Given the description of an element on the screen output the (x, y) to click on. 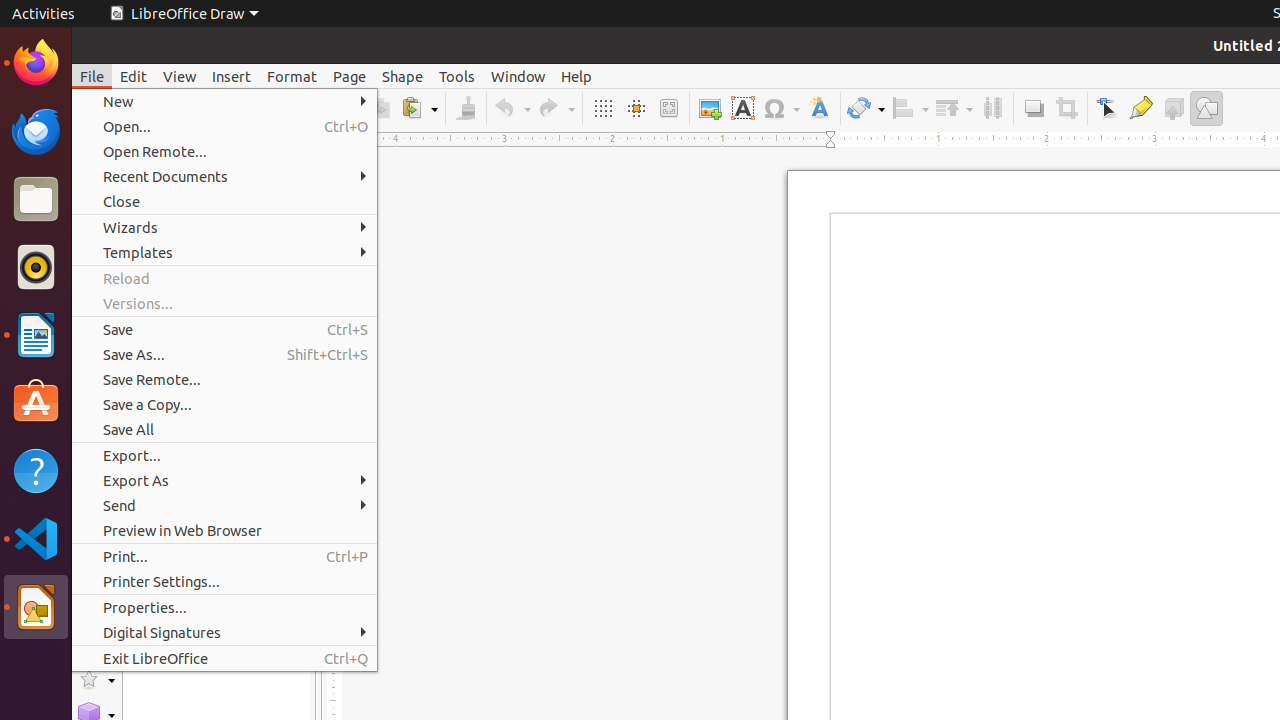
Toggle Extrusion Element type: push-button (1173, 108)
Undo Element type: push-button (512, 108)
Exit LibreOffice Element type: menu-item (224, 658)
Symbol Shapes Element type: push-button (96, 539)
Page Element type: menu (349, 76)
